Given the description of an element on the screen output the (x, y) to click on. 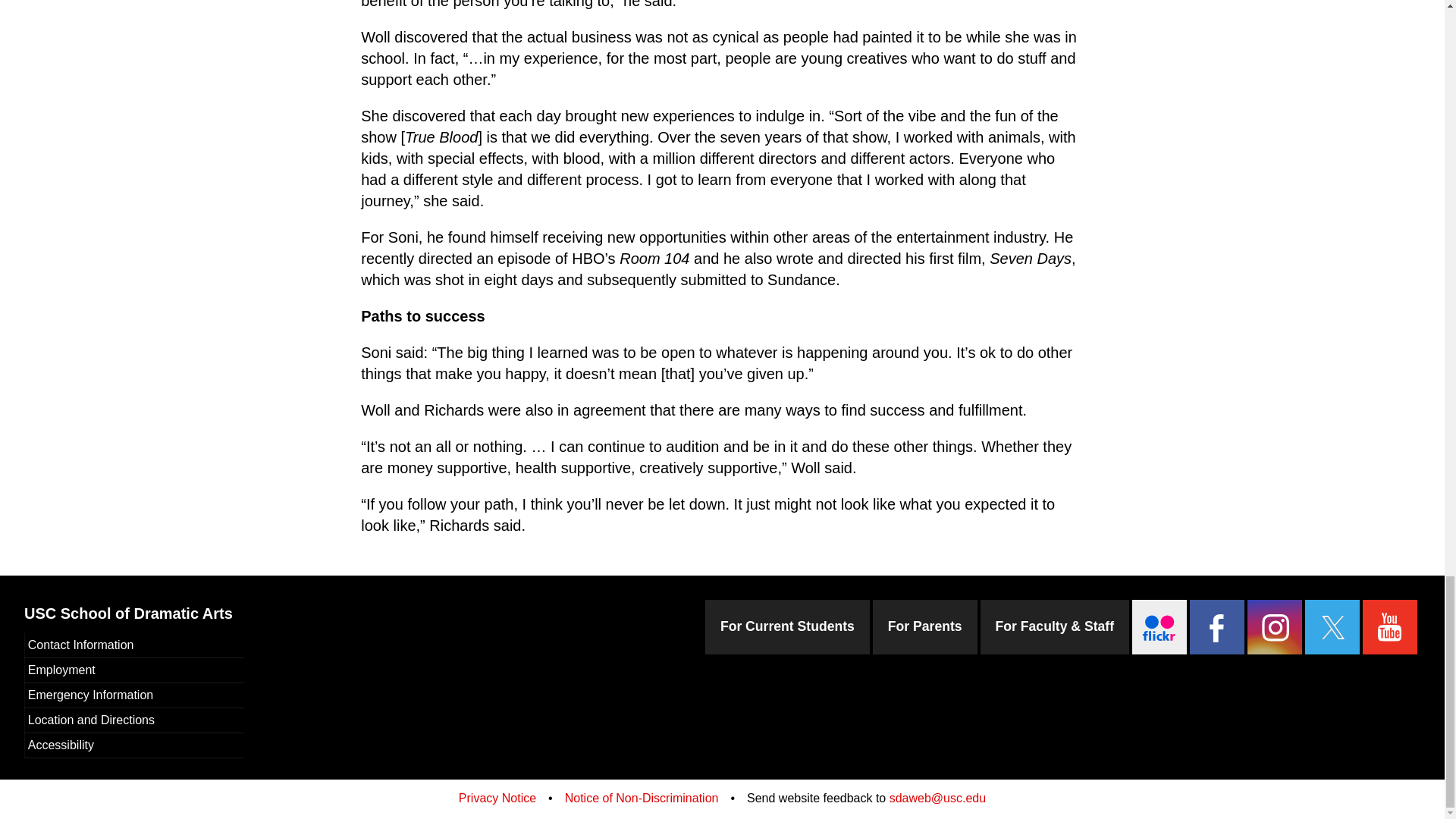
Location and Directions (134, 720)
Instagram (1274, 626)
For Parents (924, 626)
Contact Information (134, 645)
Notice of Non-Discrimination (641, 797)
For Current Students (786, 626)
Employment (134, 670)
Privacy Notice (496, 797)
Twitter (1331, 626)
YouTube (1389, 626)
Facebook (1216, 626)
USC School of Dramatic Arts (128, 613)
Accessibility (134, 745)
Flickr (1159, 626)
Emergency Information (134, 695)
